Given the description of an element on the screen output the (x, y) to click on. 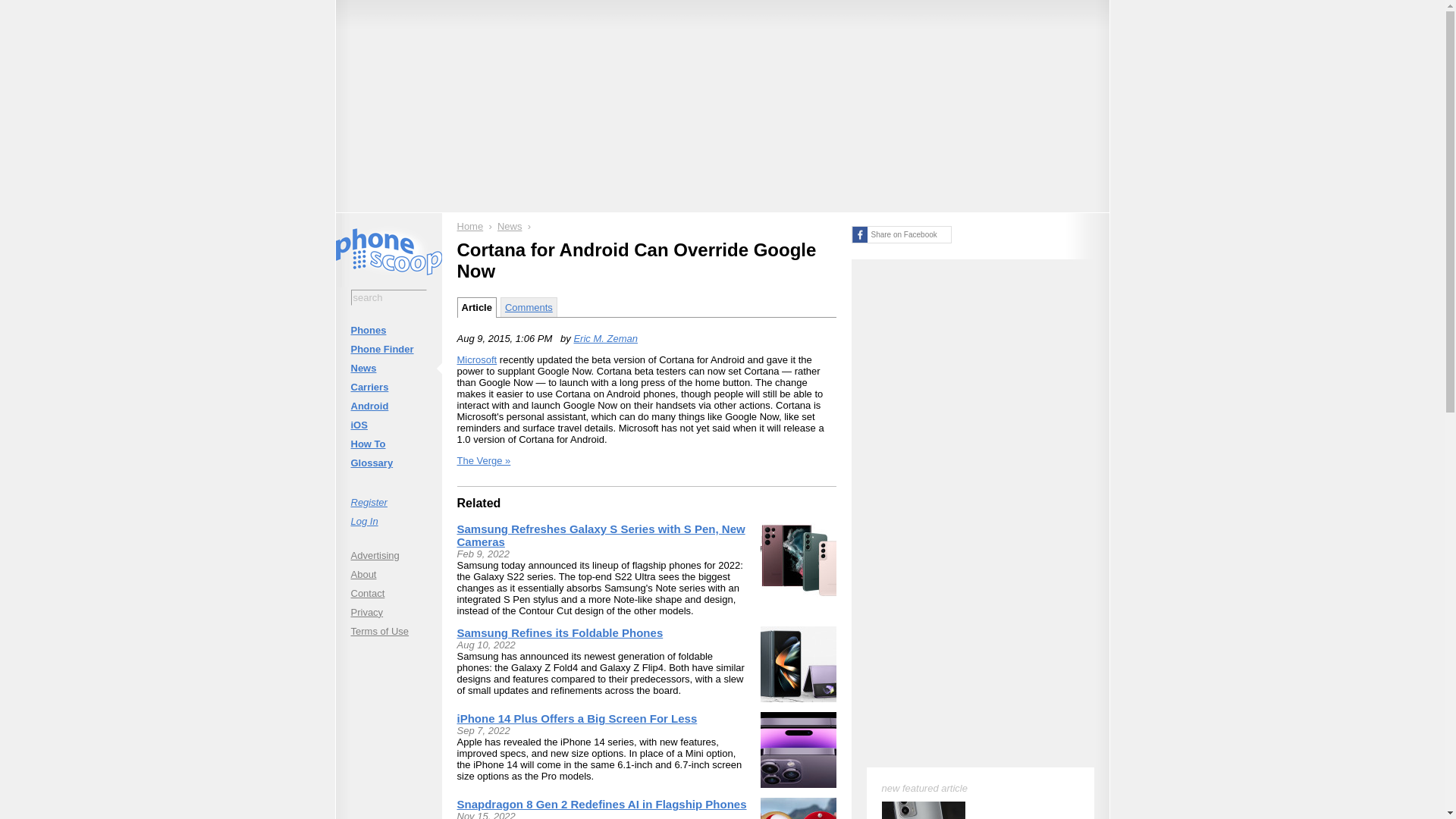
Register (387, 502)
Carriers (387, 386)
search (388, 297)
Microsoft (476, 359)
Eric M. Zeman (605, 337)
Phones (387, 330)
Comments (528, 306)
Phone Finder (387, 348)
Android (387, 405)
